Given the description of an element on the screen output the (x, y) to click on. 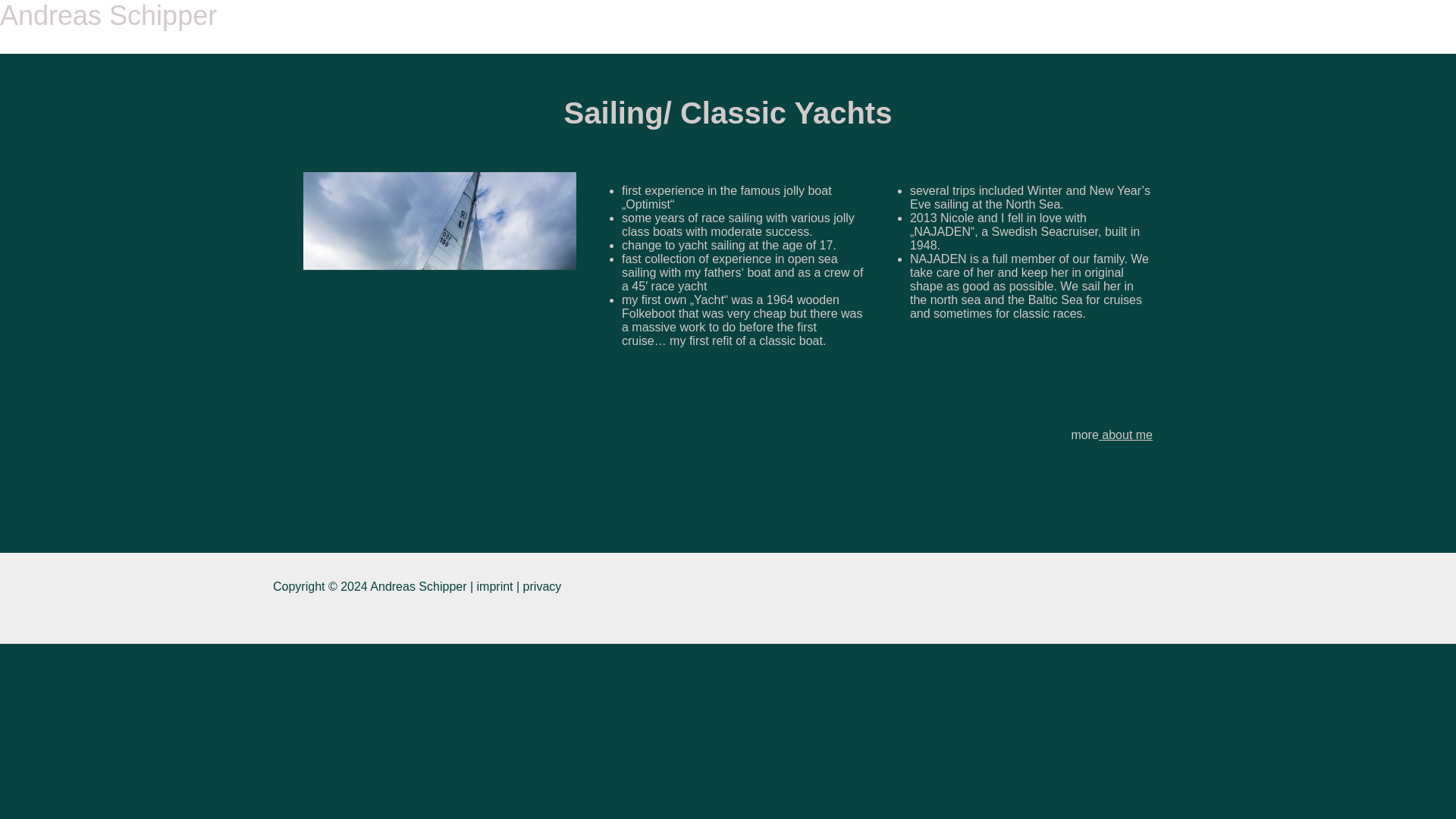
Andreas Schipper (108, 15)
about me (1127, 434)
privacy (542, 585)
imprint (495, 585)
